Given the description of an element on the screen output the (x, y) to click on. 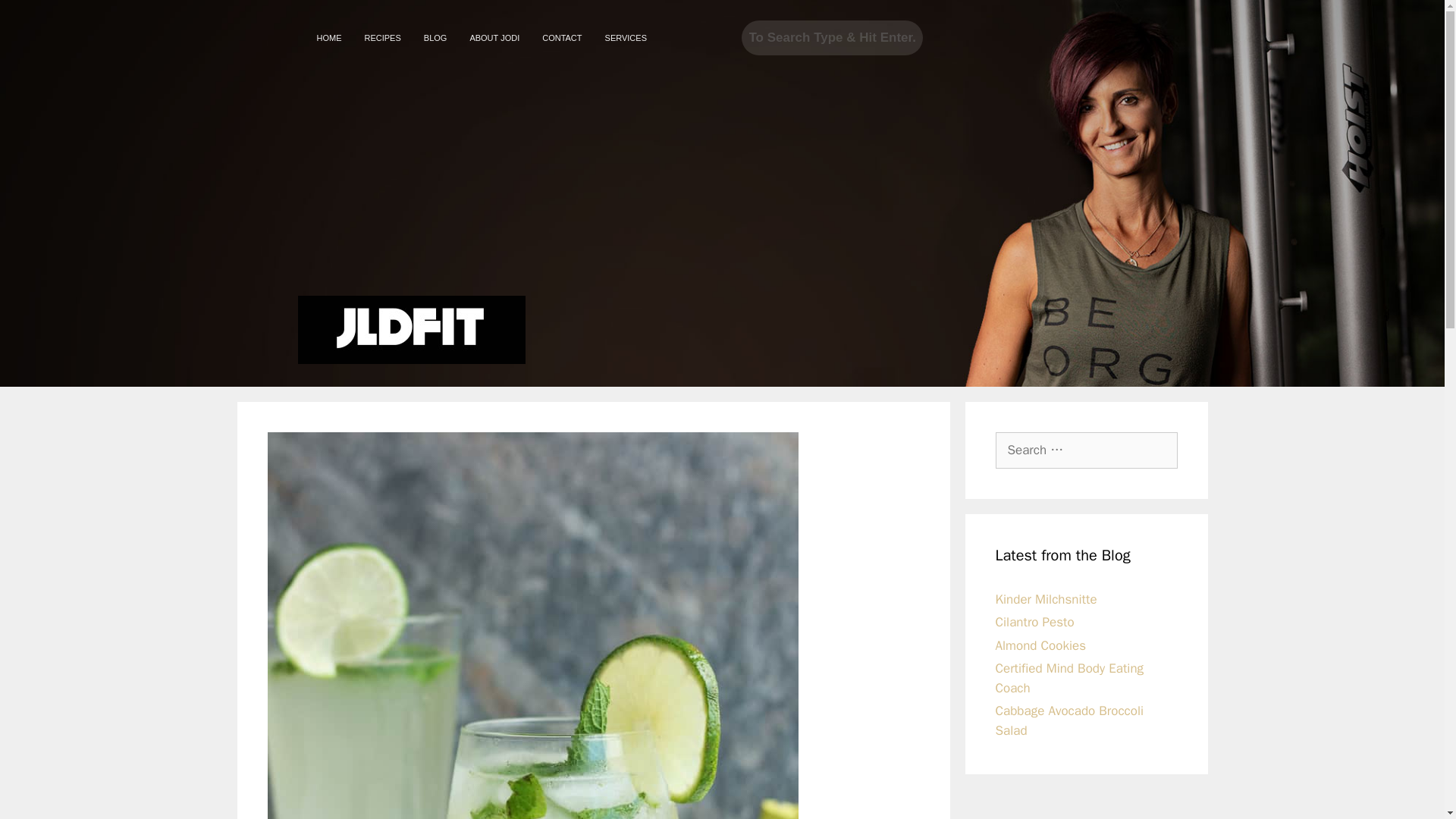
HOME (328, 37)
SERVICES (626, 37)
Search for: (1085, 450)
ABOUT JODI (494, 37)
Cilantro Pesto (1034, 621)
Search (35, 18)
Search (832, 37)
CONTACT (561, 37)
Almond Cookies (1040, 644)
BLOG (435, 37)
RECIPES (382, 37)
Certified Mind Body Eating Coach (1068, 678)
Kinder Milchsnitte (1045, 599)
Cabbage Avocado Broccoli Salad (1068, 720)
